Given the description of an element on the screen output the (x, y) to click on. 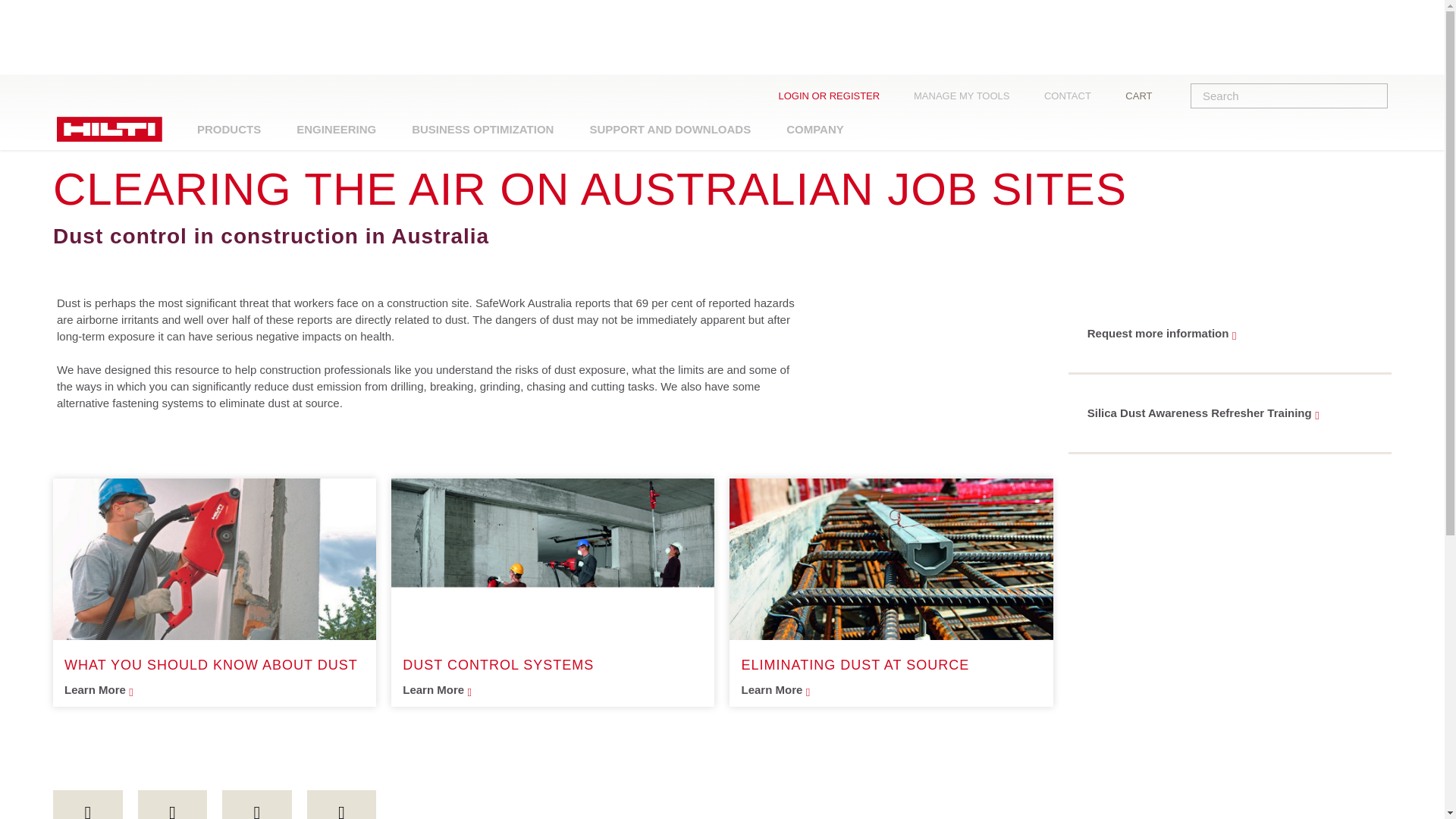
Request more information (1233, 333)
Learn More (214, 689)
COMPANY (815, 129)
Get Access (903, 95)
SUPPORT AND DOWNLOADS (669, 129)
Homepage (125, 141)
CONTACT (1078, 95)
Silica Dust Awareness Refresher Training (1233, 412)
Silica Dust Awareness Refresher Training (1233, 412)
PRODUCTS (229, 129)
LOGIN OR REGISTER (840, 95)
MANAGE MY TOOLS (973, 95)
BUSINESS OPTIMIZATION (482, 129)
ENGINEERING (336, 129)
